Given the description of an element on the screen output the (x, y) to click on. 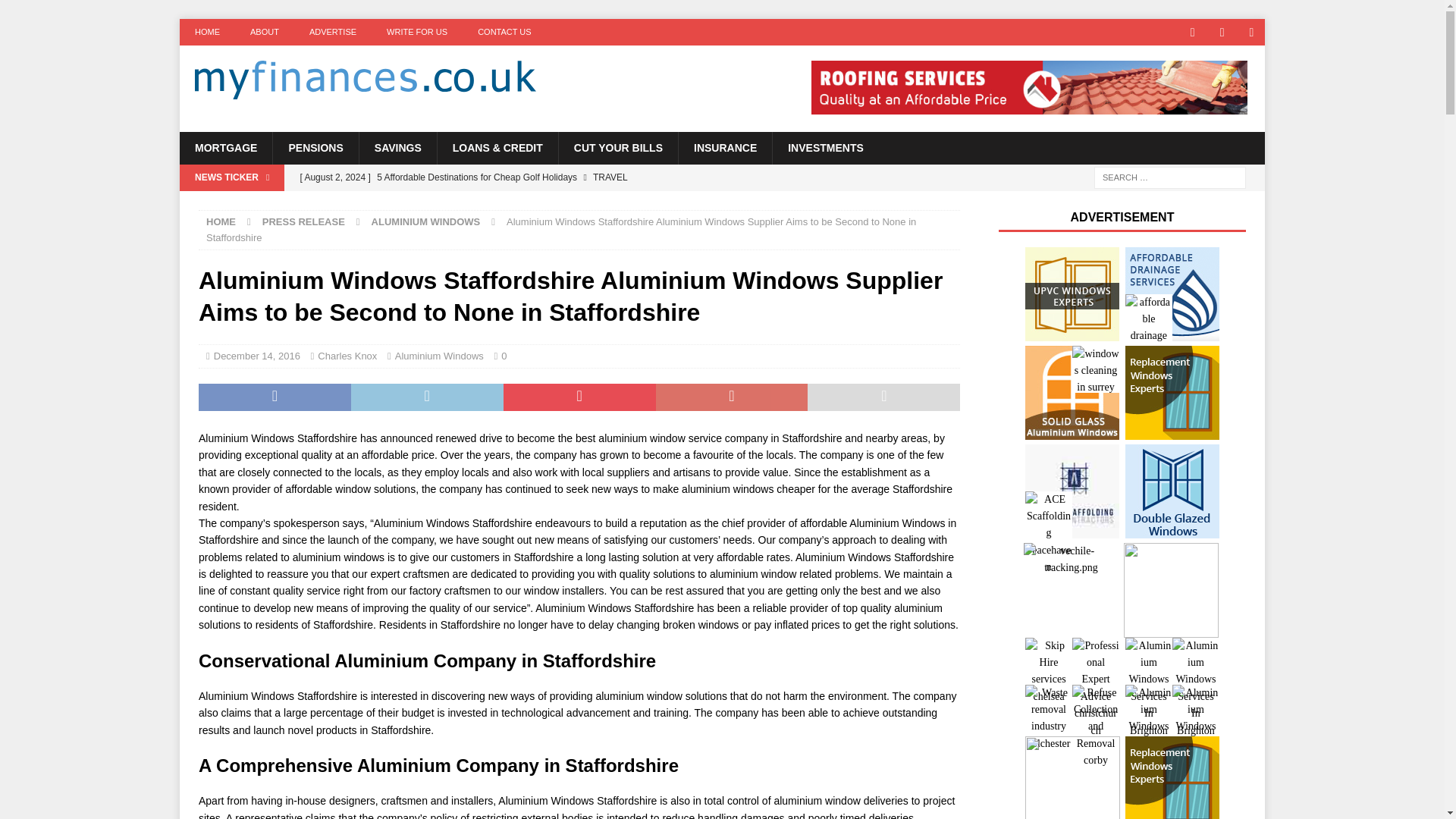
ADVERTISE (332, 31)
PENSIONS (315, 147)
SAVINGS (397, 147)
5 Affordable Destinations for Cheap Golf Holidays (589, 177)
CONTACT US (505, 31)
ABOUT (264, 31)
Search (56, 11)
INVESTMENTS (825, 147)
CUT YOUR BILLS (617, 147)
WRITE FOR US (417, 31)
MORTGAGE (225, 147)
HOME (206, 31)
HOME (220, 221)
INSURANCE (724, 147)
